Given the description of an element on the screen output the (x, y) to click on. 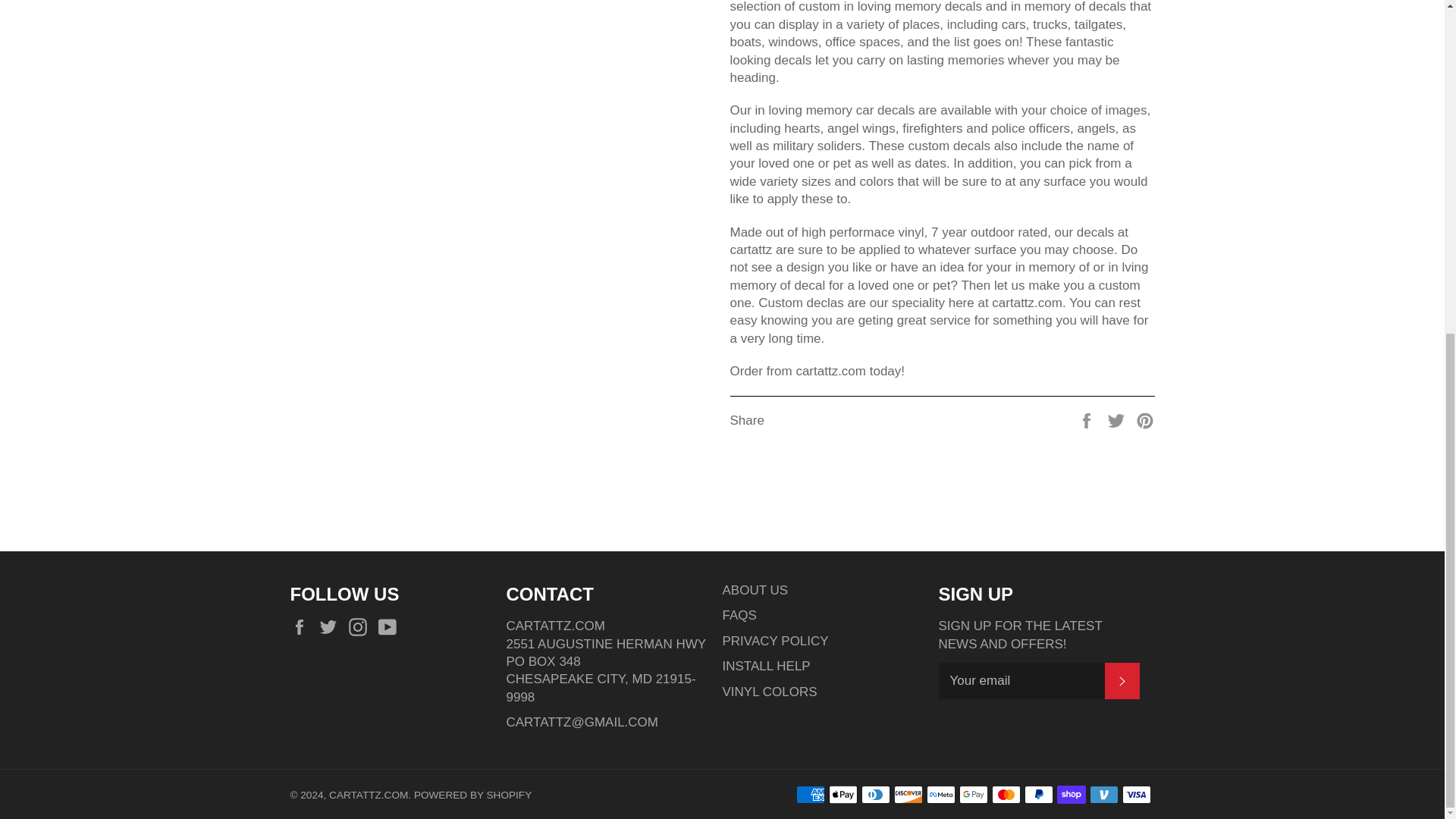
YOUTUBE (391, 626)
Share on Facebook (1088, 420)
Tweet on Twitter (1117, 420)
Tweet on Twitter (1117, 420)
ABOUT US (754, 590)
Pin on Pinterest (1144, 420)
cartattz.com on Facebook (302, 626)
cartattz.com on YouTube (391, 626)
TWITTER (331, 626)
cartattz.com on Instagram (361, 626)
INSTAGRAM (361, 626)
Share on Facebook (1088, 420)
FAQS (738, 615)
Pin on Pinterest (1144, 420)
FACEBOOK (302, 626)
